Given the description of an element on the screen output the (x, y) to click on. 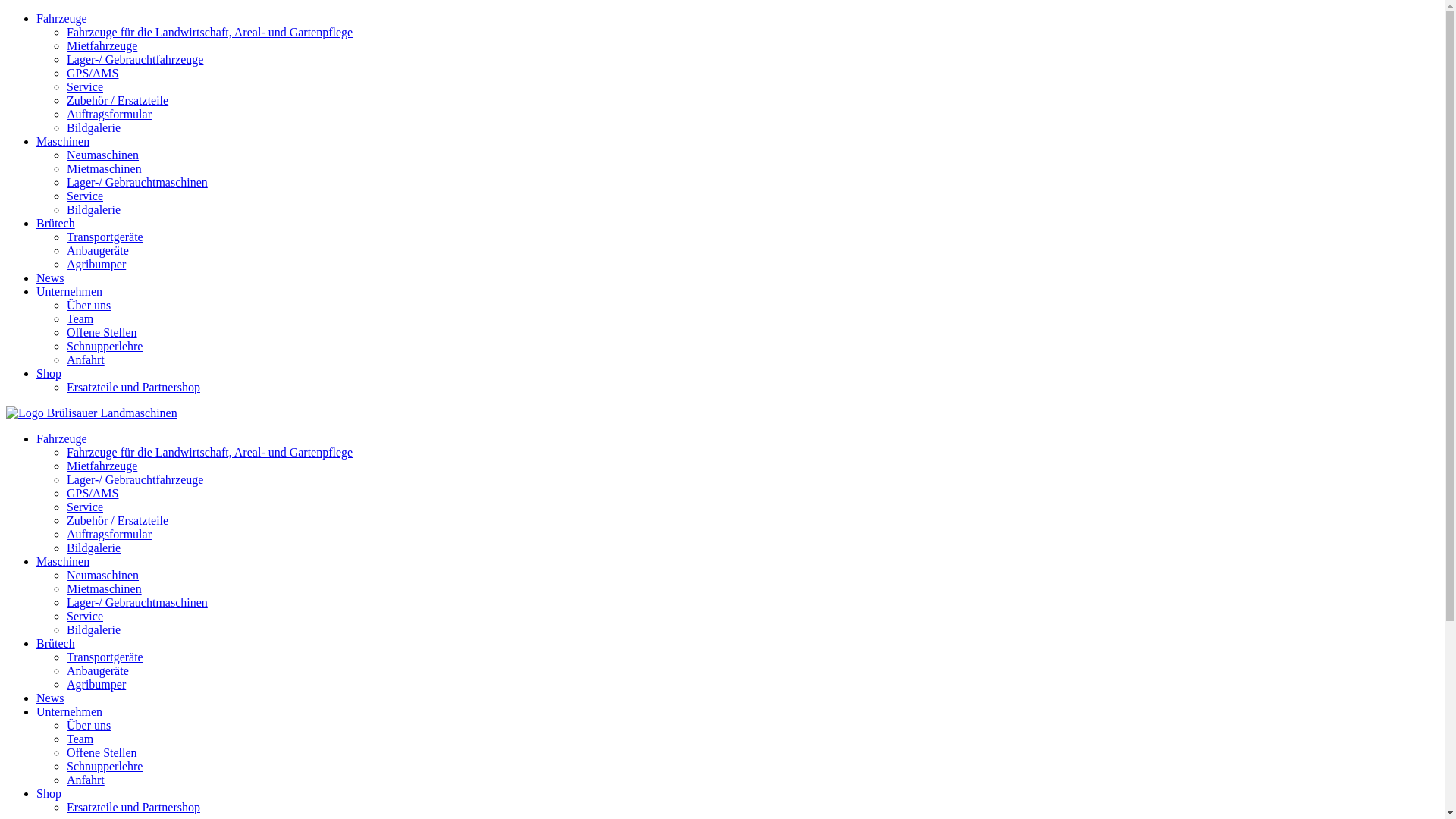
Bildgalerie Element type: text (93, 547)
Ersatzteile und Partnershop Element type: text (133, 806)
Service Element type: text (84, 195)
Anfahrt Element type: text (85, 779)
News Element type: text (49, 277)
Maschinen Element type: text (62, 140)
Team Element type: text (79, 318)
Auftragsformular Element type: text (108, 533)
Team Element type: text (79, 738)
GPS/AMS Element type: text (92, 492)
Fahrzeuge Element type: text (61, 18)
Neumaschinen Element type: text (102, 574)
Auftragsformular Element type: text (108, 113)
Bildgalerie Element type: text (93, 127)
Service Element type: text (84, 615)
Service Element type: text (84, 506)
Neumaschinen Element type: text (102, 154)
Home Element type: hover (91, 412)
Mietmaschinen Element type: text (103, 588)
Mietfahrzeuge Element type: text (101, 45)
Service Element type: text (84, 86)
Lager-/ Gebrauchtmaschinen Element type: text (136, 181)
Schnupperlehre Element type: text (104, 345)
Mietfahrzeuge Element type: text (101, 465)
Unternehmen Element type: text (69, 711)
News Element type: text (49, 697)
Bildgalerie Element type: text (93, 209)
Fahrzeuge Element type: text (61, 438)
GPS/AMS Element type: text (92, 72)
Ersatzteile und Partnershop Element type: text (133, 386)
Offene Stellen Element type: text (101, 752)
Mietmaschinen Element type: text (103, 168)
Shop Element type: text (48, 373)
Lager-/ Gebrauchtfahrzeuge Element type: text (134, 59)
Anfahrt Element type: text (85, 359)
Maschinen Element type: text (62, 561)
Bildgalerie Element type: text (93, 629)
Lager-/ Gebrauchtmaschinen Element type: text (136, 602)
Shop Element type: text (48, 793)
Agribumper Element type: text (95, 263)
Lager-/ Gebrauchtfahrzeuge Element type: text (134, 479)
Unternehmen Element type: text (69, 291)
Offene Stellen Element type: text (101, 332)
Schnupperlehre Element type: text (104, 765)
Agribumper Element type: text (95, 683)
